Given the description of an element on the screen output the (x, y) to click on. 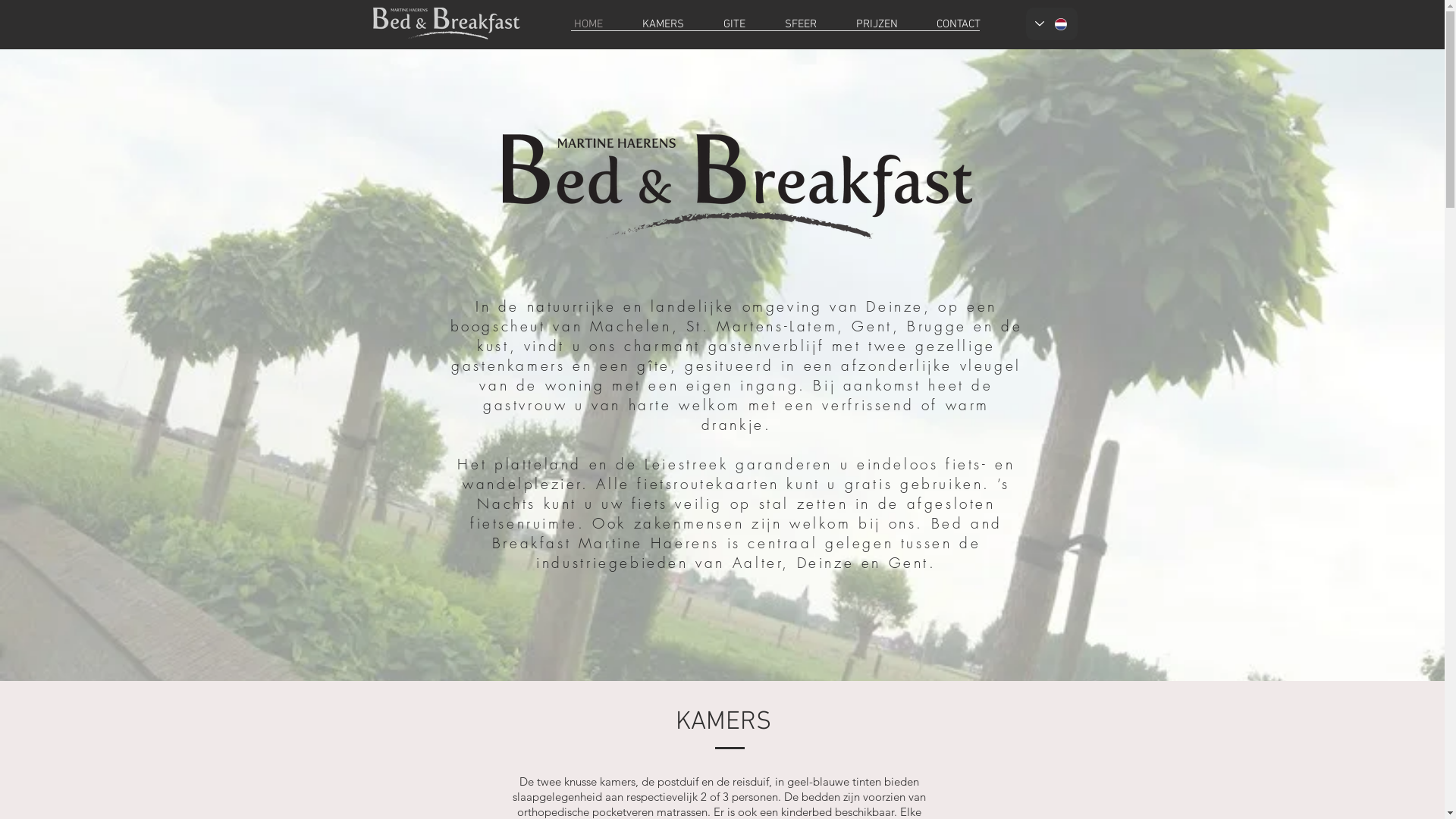
KAMERS Element type: text (661, 24)
PRIJZEN Element type: text (875, 24)
GITE Element type: text (734, 24)
HOME Element type: text (587, 24)
CONTACT Element type: text (958, 24)
SFEER Element type: text (799, 24)
